Given the description of an element on the screen output the (x, y) to click on. 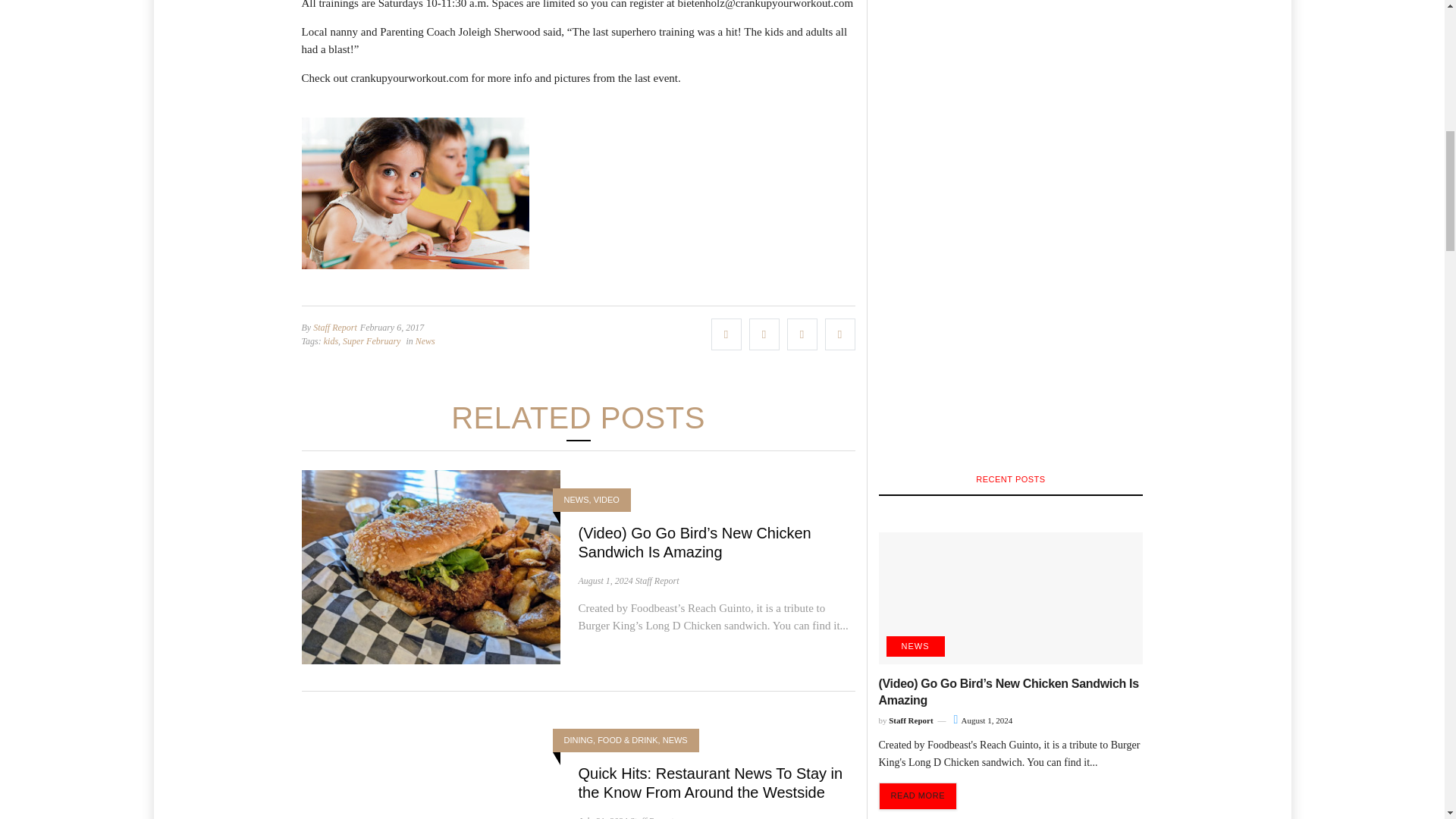
kids (330, 341)
Posts by Staff Report (650, 817)
Posts by Staff Report (334, 327)
Super February (371, 341)
News (424, 341)
Staff Report (334, 327)
Staff Report (656, 580)
VIDEO (607, 499)
Posts by Staff Report (656, 580)
NEWS (576, 499)
